Given the description of an element on the screen output the (x, y) to click on. 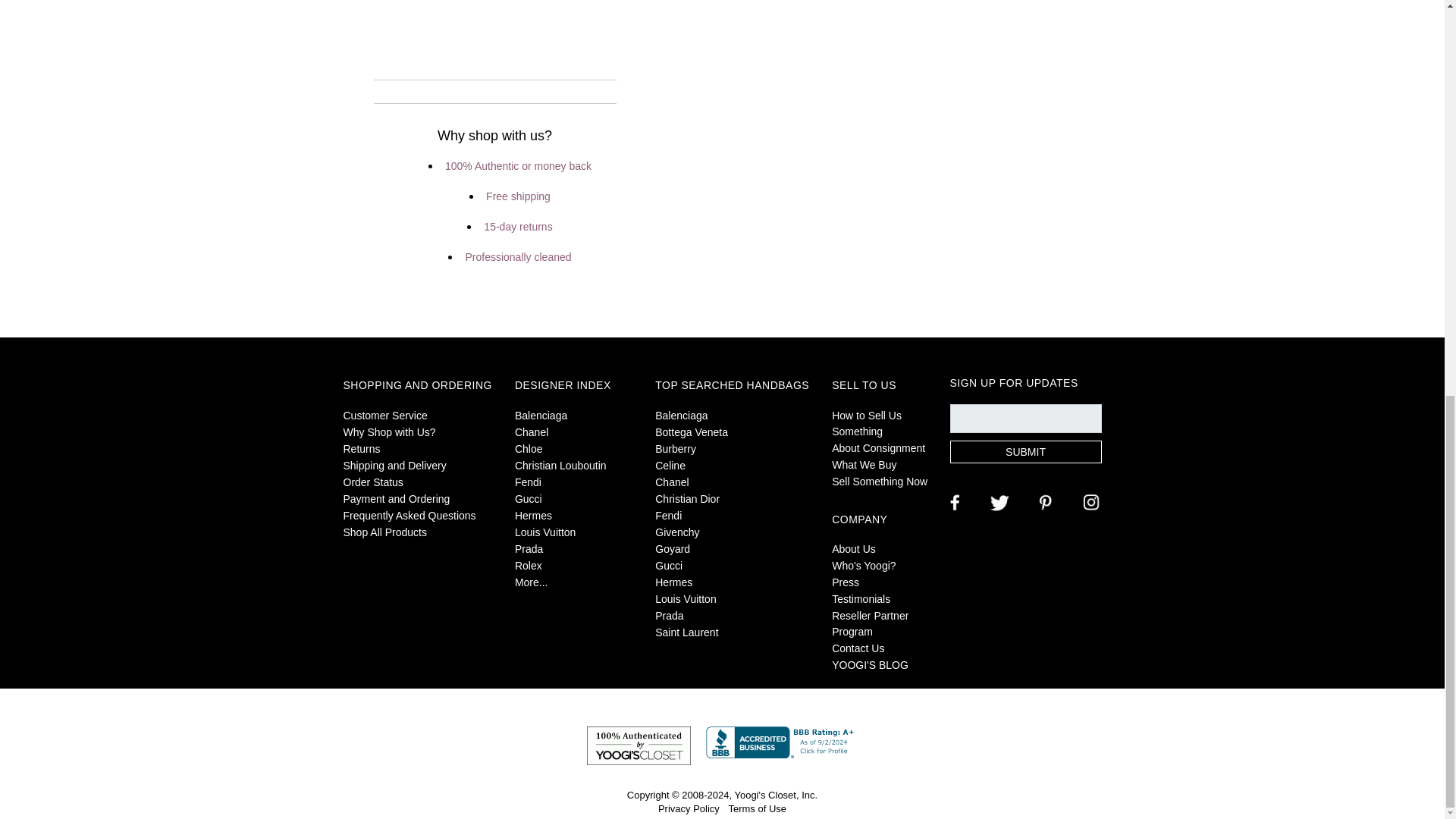
Follow us on Facebook (952, 501)
Guaranteed Authentic by Yoogi''s Closet (638, 745)
Follow us on Twitter (998, 501)
Follow us on Pinterest (1043, 501)
Follow us on Instagram (1089, 501)
